Given the description of an element on the screen output the (x, y) to click on. 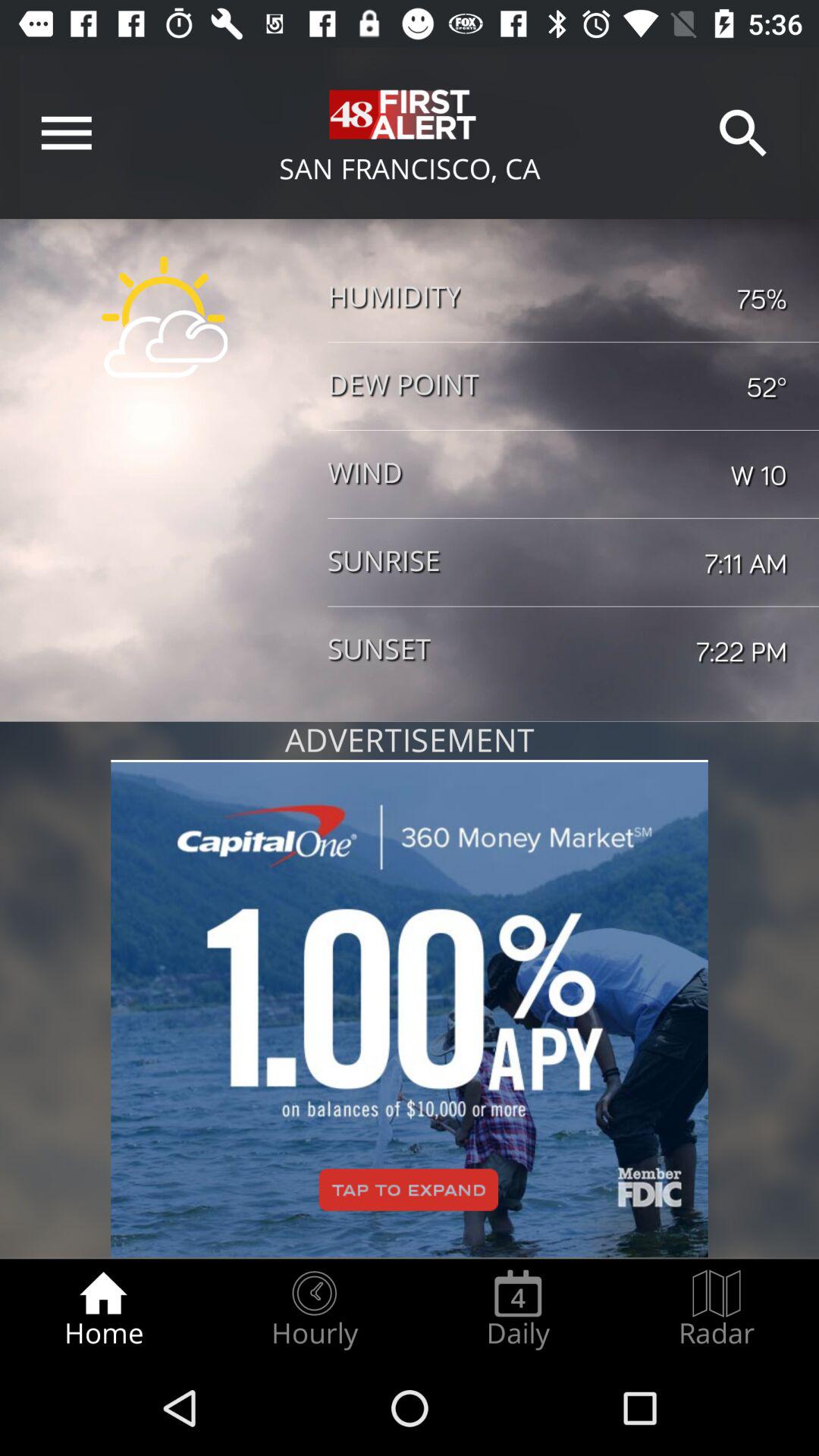
launch icon to the right of the hourly item (518, 1309)
